Given the description of an element on the screen output the (x, y) to click on. 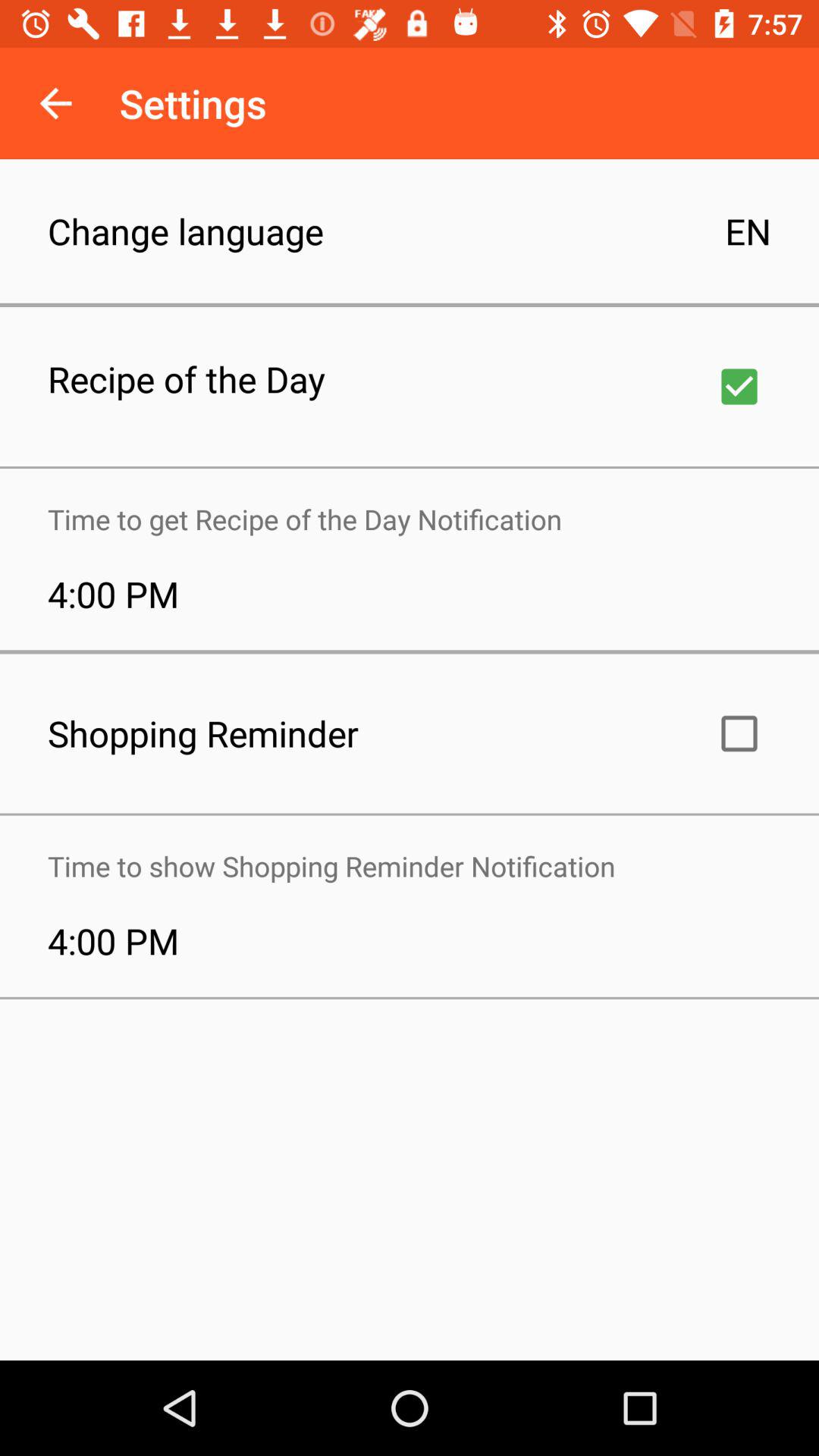
click the button (739, 733)
